Given the description of an element on the screen output the (x, y) to click on. 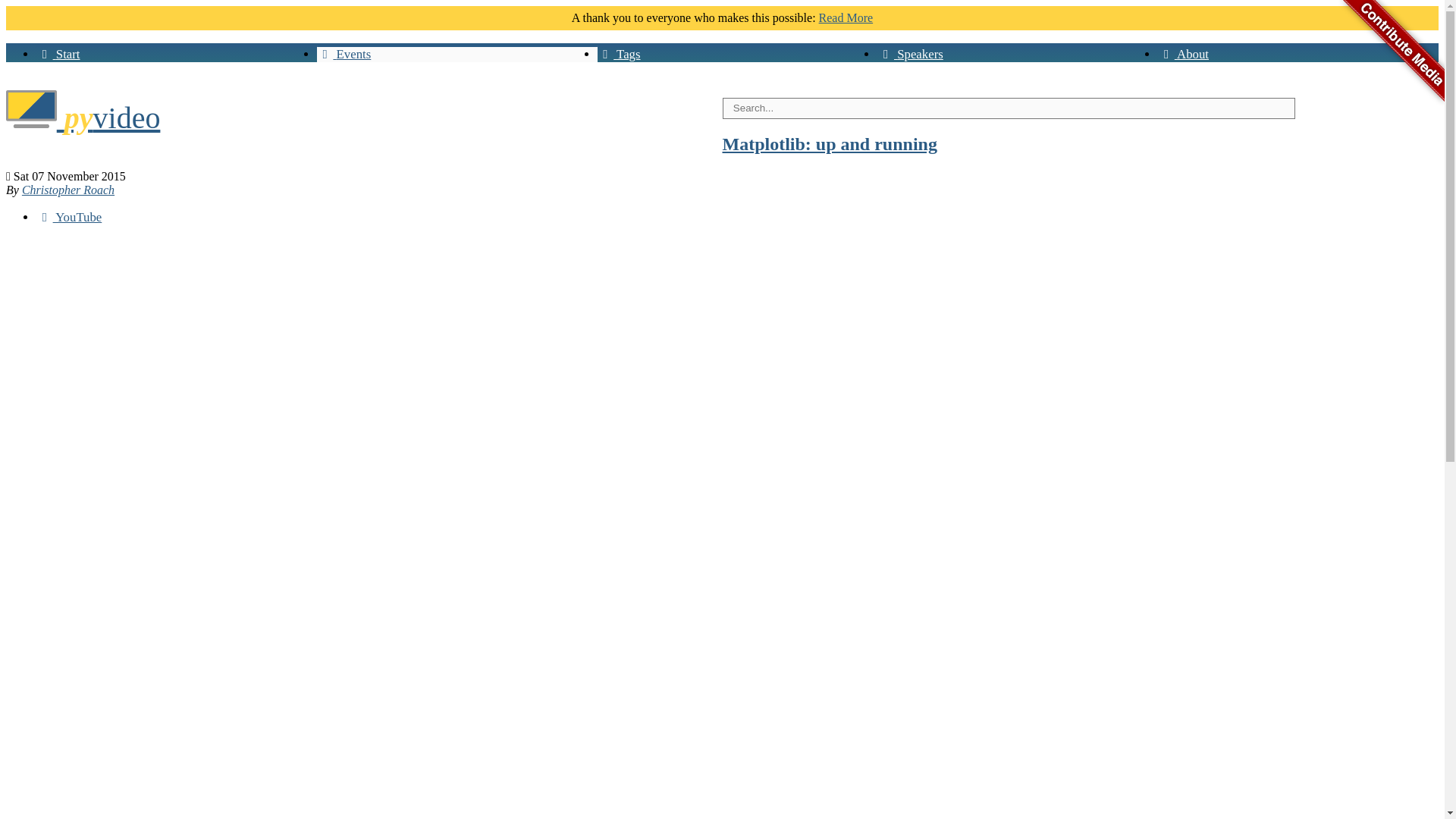
Christopher Roach (68, 189)
Matplotlib: up and running (829, 143)
Start (58, 53)
Tags (618, 53)
pyvideo (82, 117)
Permalink to Matplotlib: up and running (829, 143)
About (1182, 53)
Events (344, 53)
Speakers (909, 53)
YouTube (68, 216)
Read More (845, 17)
